Given the description of an element on the screen output the (x, y) to click on. 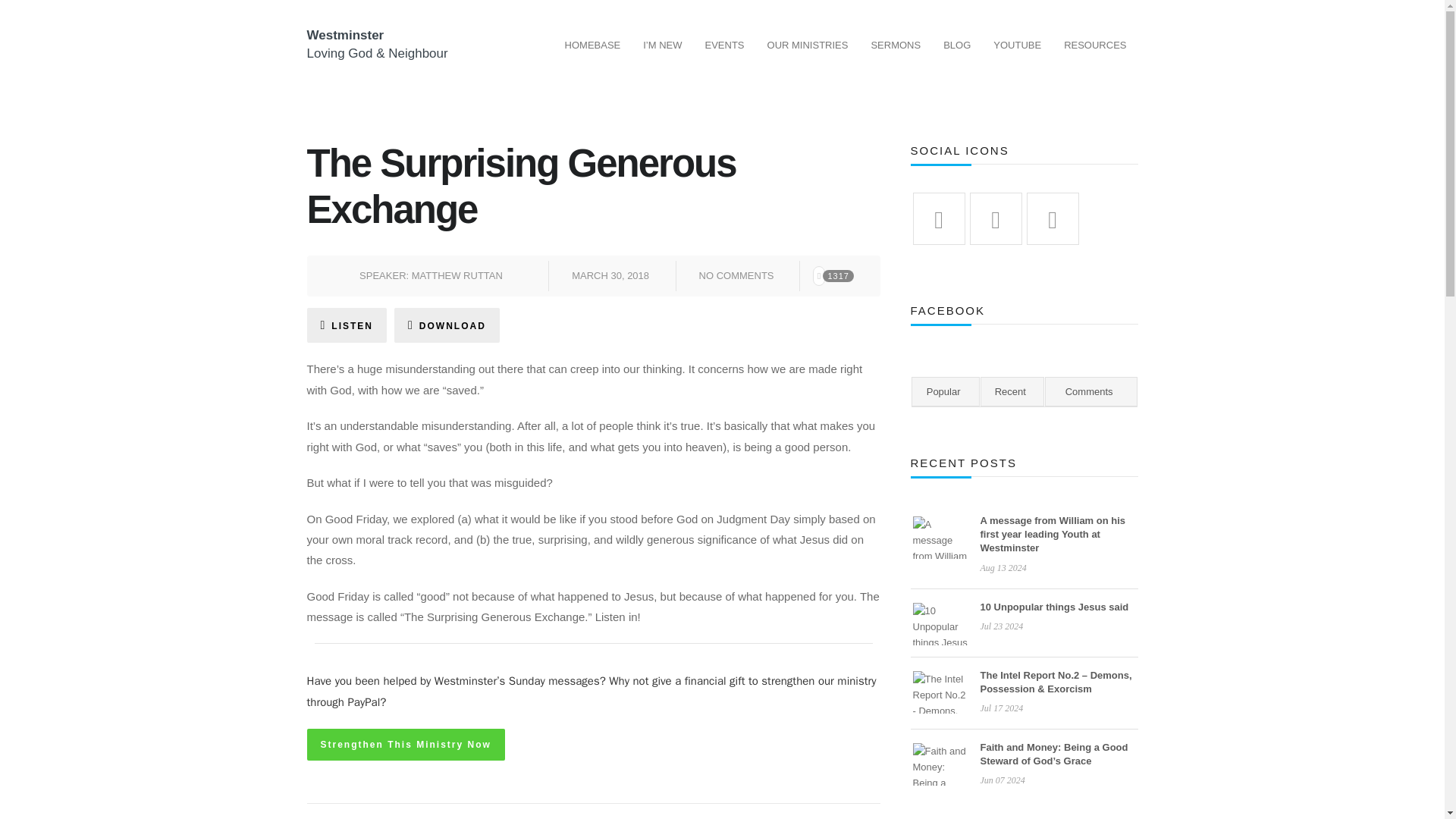
Westminster (344, 34)
SERMONS (895, 45)
RESOURCES (1094, 45)
OUR MINISTRIES (807, 45)
HOMEBASE (592, 45)
YOUTUBE (1016, 45)
